Given the description of an element on the screen output the (x, y) to click on. 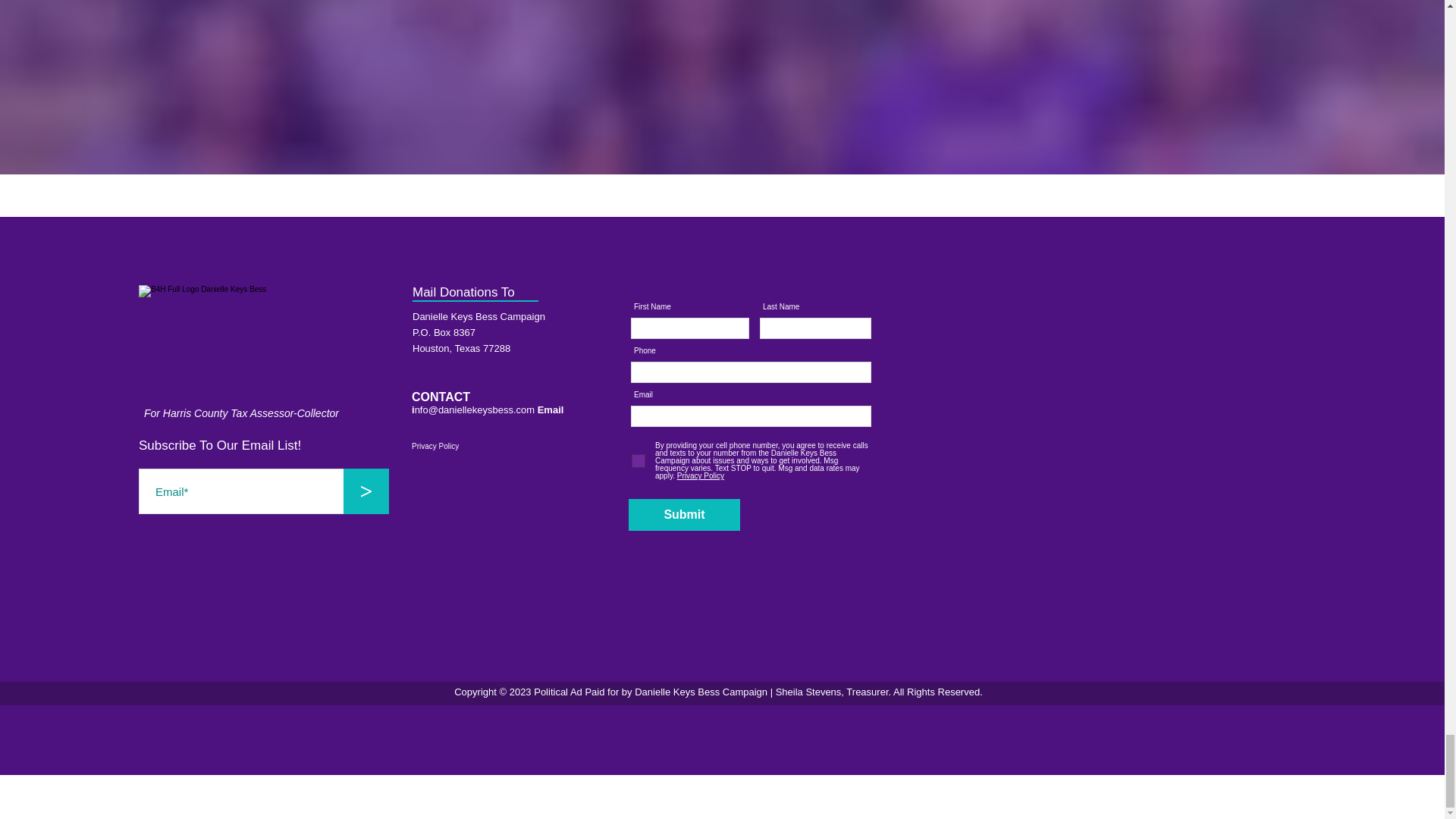
Privacy Policy (699, 475)
Privacy Policy (470, 446)
Submit (683, 514)
